Given the description of an element on the screen output the (x, y) to click on. 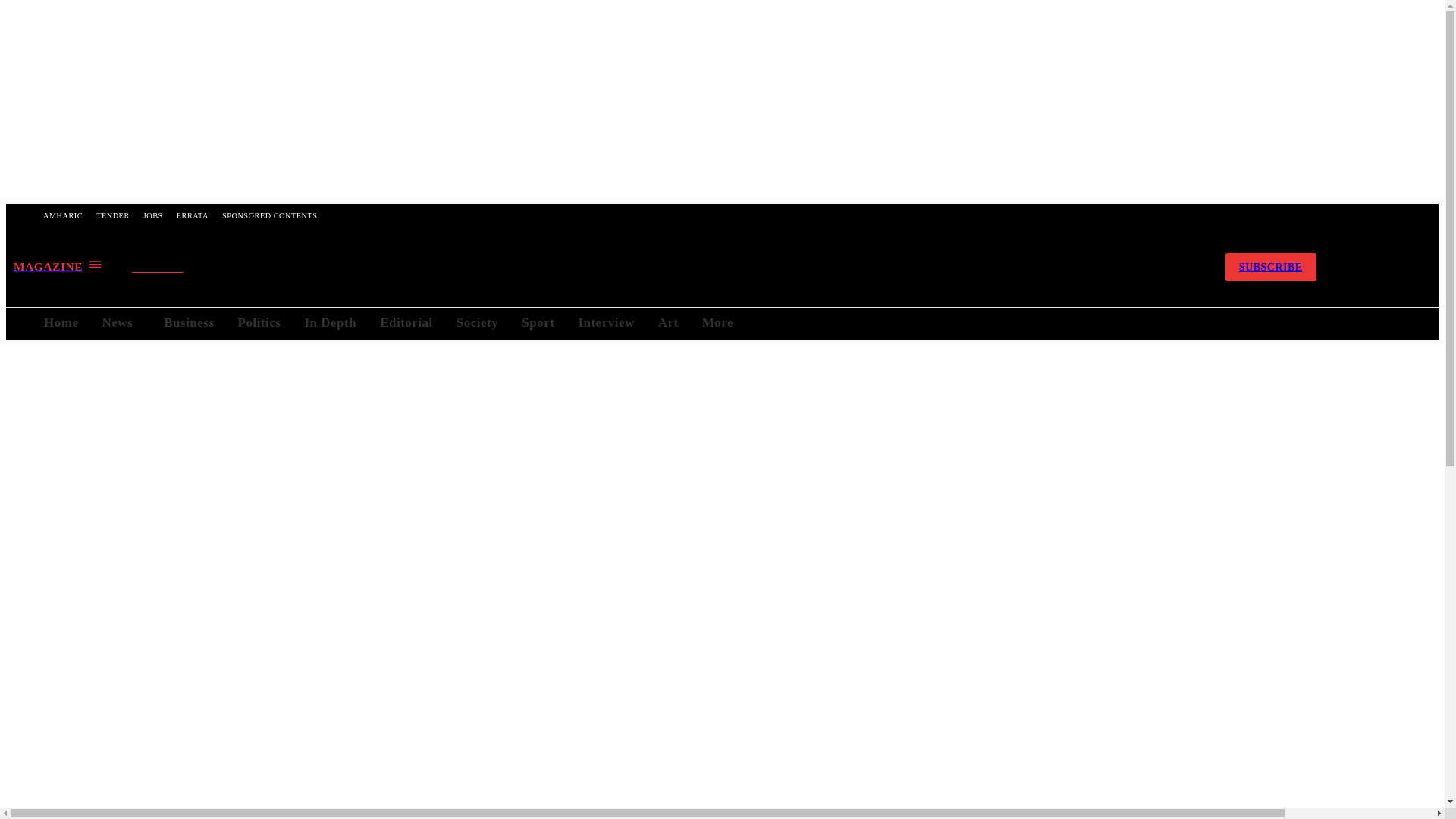
Magazine (57, 266)
JOBS (153, 216)
The Reporter Ethiopia, Ethiopian News (665, 267)
SPONSORED CONTENTS (269, 216)
MAGAZINE (57, 266)
Twitter (1151, 267)
AMHARIC (62, 216)
ERRATA (192, 216)
TENDER (112, 216)
The Reporter Ethiopia, Ethiopian News (664, 267)
